Given the description of an element on the screen output the (x, y) to click on. 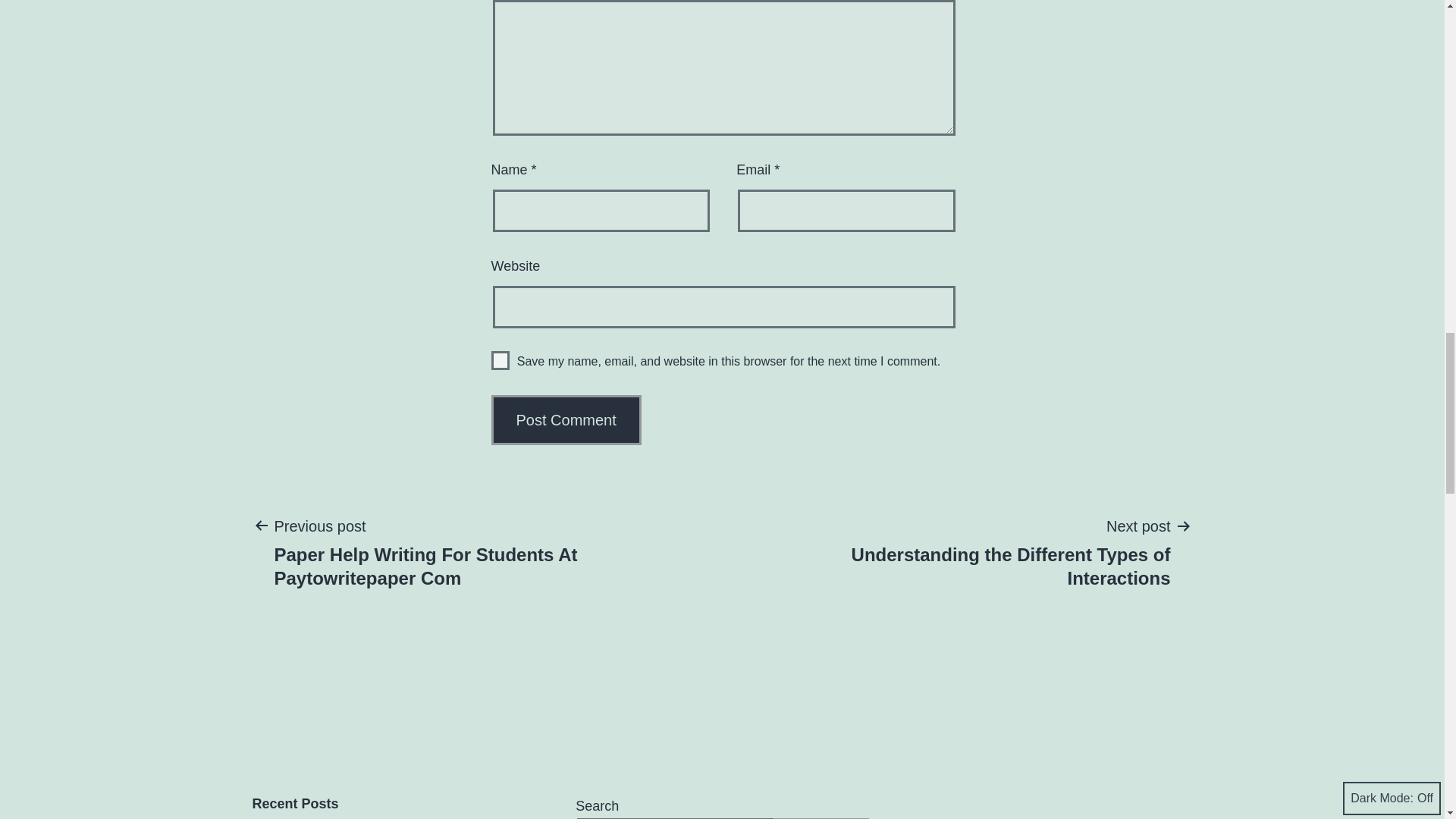
Post Comment (567, 419)
yes (500, 360)
Post Comment (567, 419)
